Given the description of an element on the screen output the (x, y) to click on. 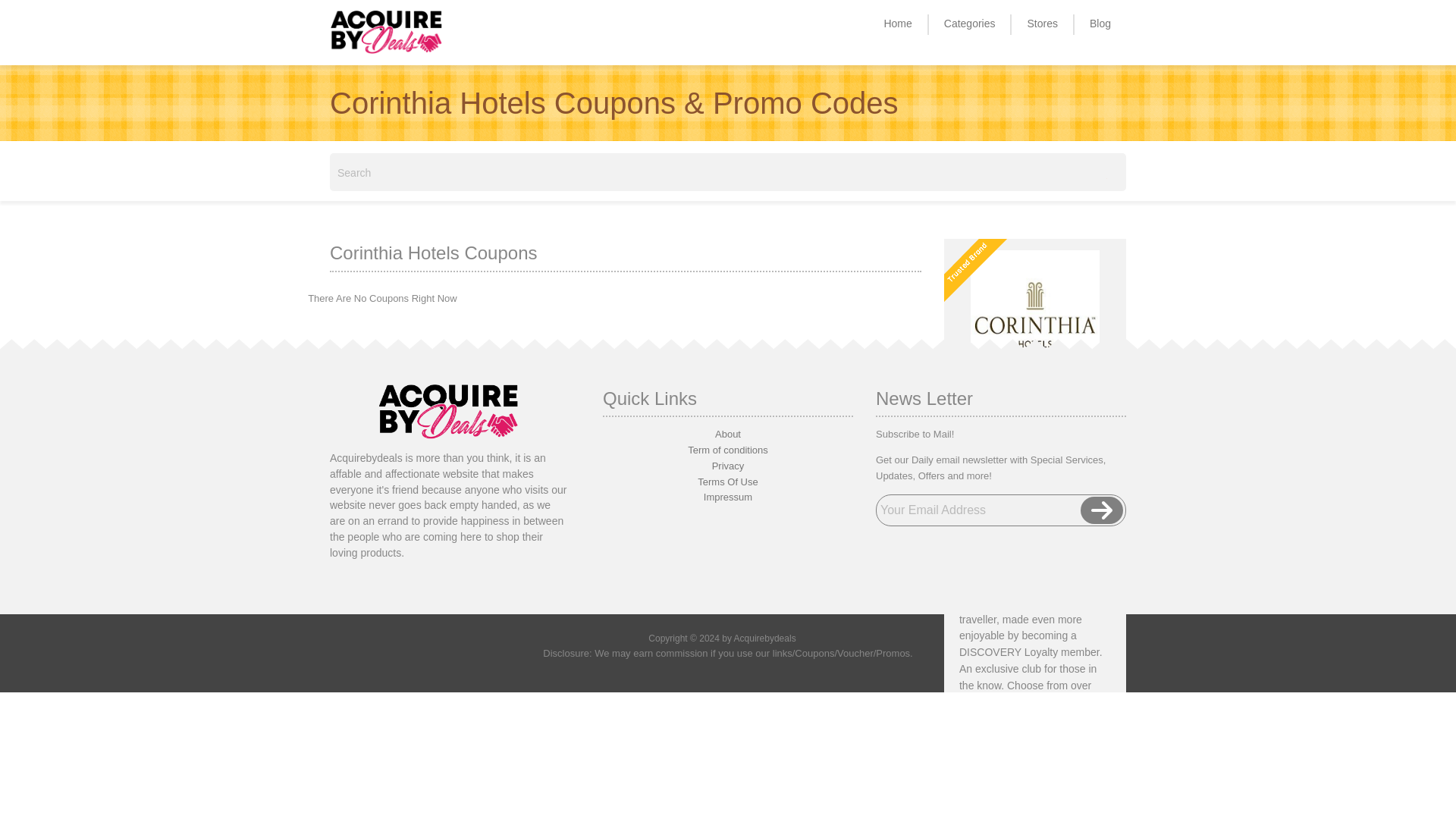
VIEW BRAND (1034, 499)
Blog (1099, 23)
Privacy (727, 465)
Term of conditions (727, 449)
Home (897, 23)
Categories (969, 23)
About (727, 433)
Stores (1041, 23)
Impressum (727, 496)
Terms Of Use (727, 481)
